Given the description of an element on the screen output the (x, y) to click on. 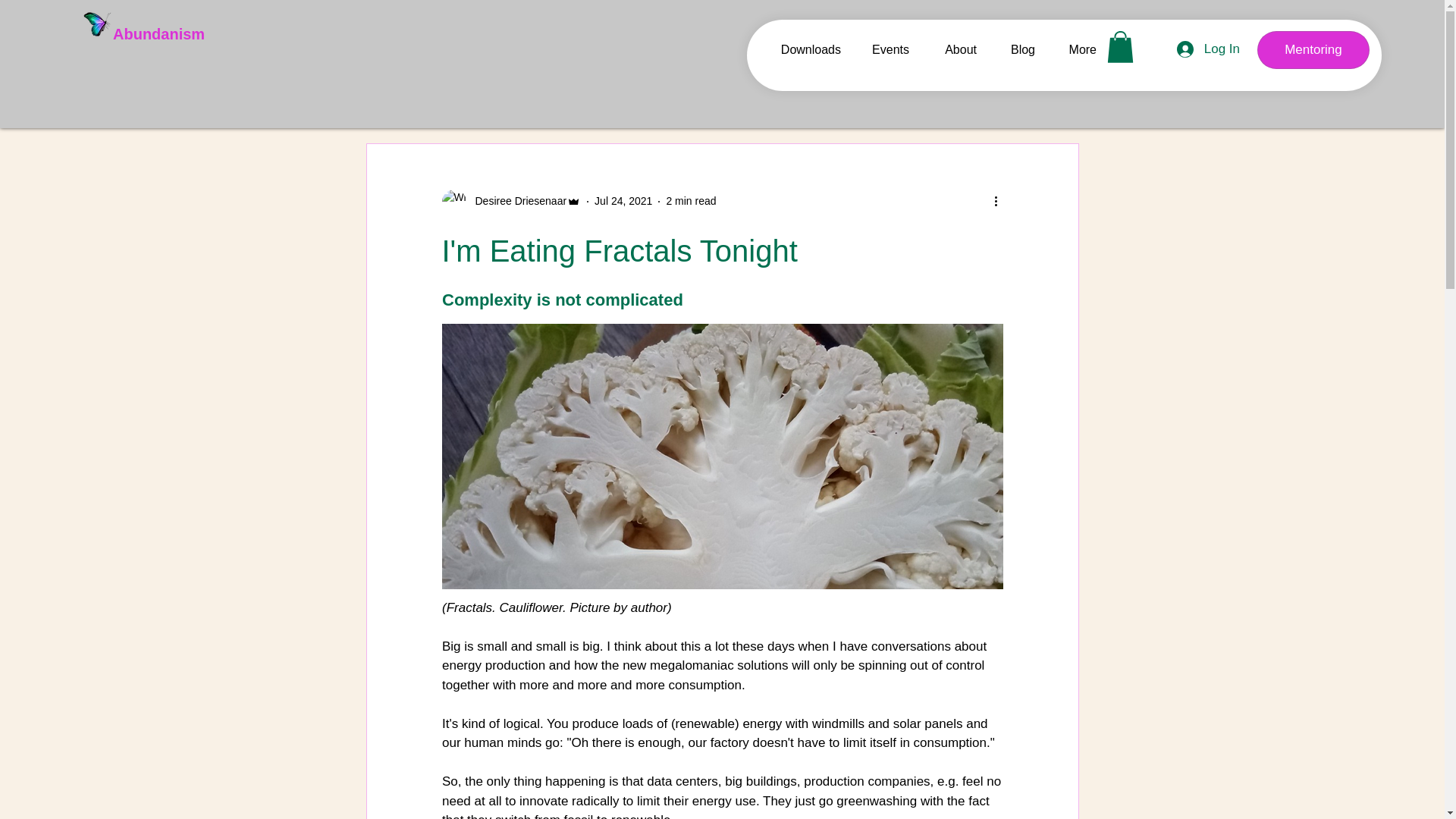
About (954, 49)
Mentoring (1313, 49)
Jul 24, 2021 (623, 200)
Desiree Driesenaar (515, 201)
Blog (1017, 49)
Downloads (804, 49)
Log In (1208, 49)
Events (885, 49)
2 min read (690, 200)
Desiree Driesenaar (510, 201)
